Given the description of an element on the screen output the (x, y) to click on. 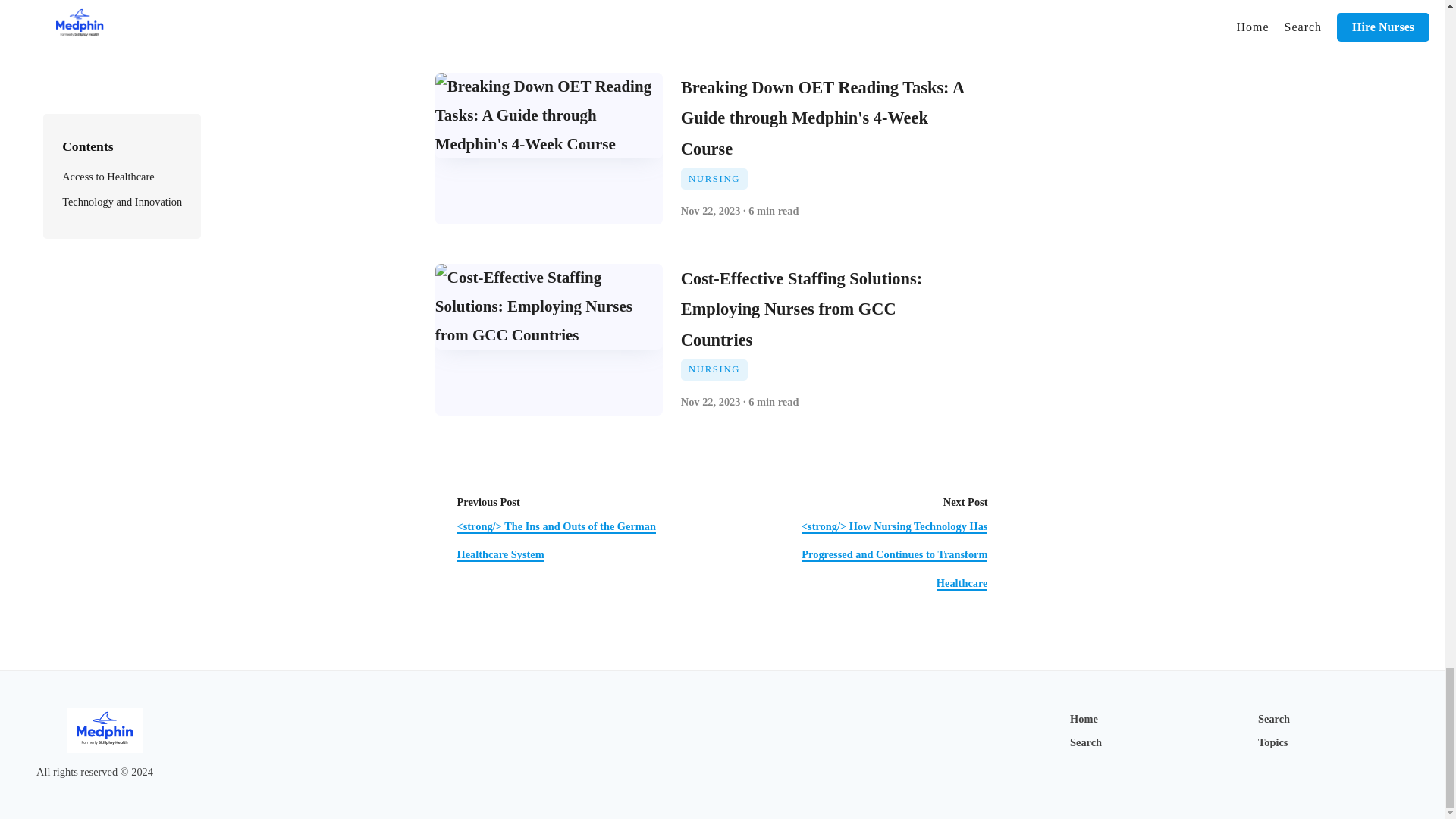
Search (1086, 742)
Home (1083, 718)
Topics (1272, 742)
Search (1273, 718)
